Given the description of an element on the screen output the (x, y) to click on. 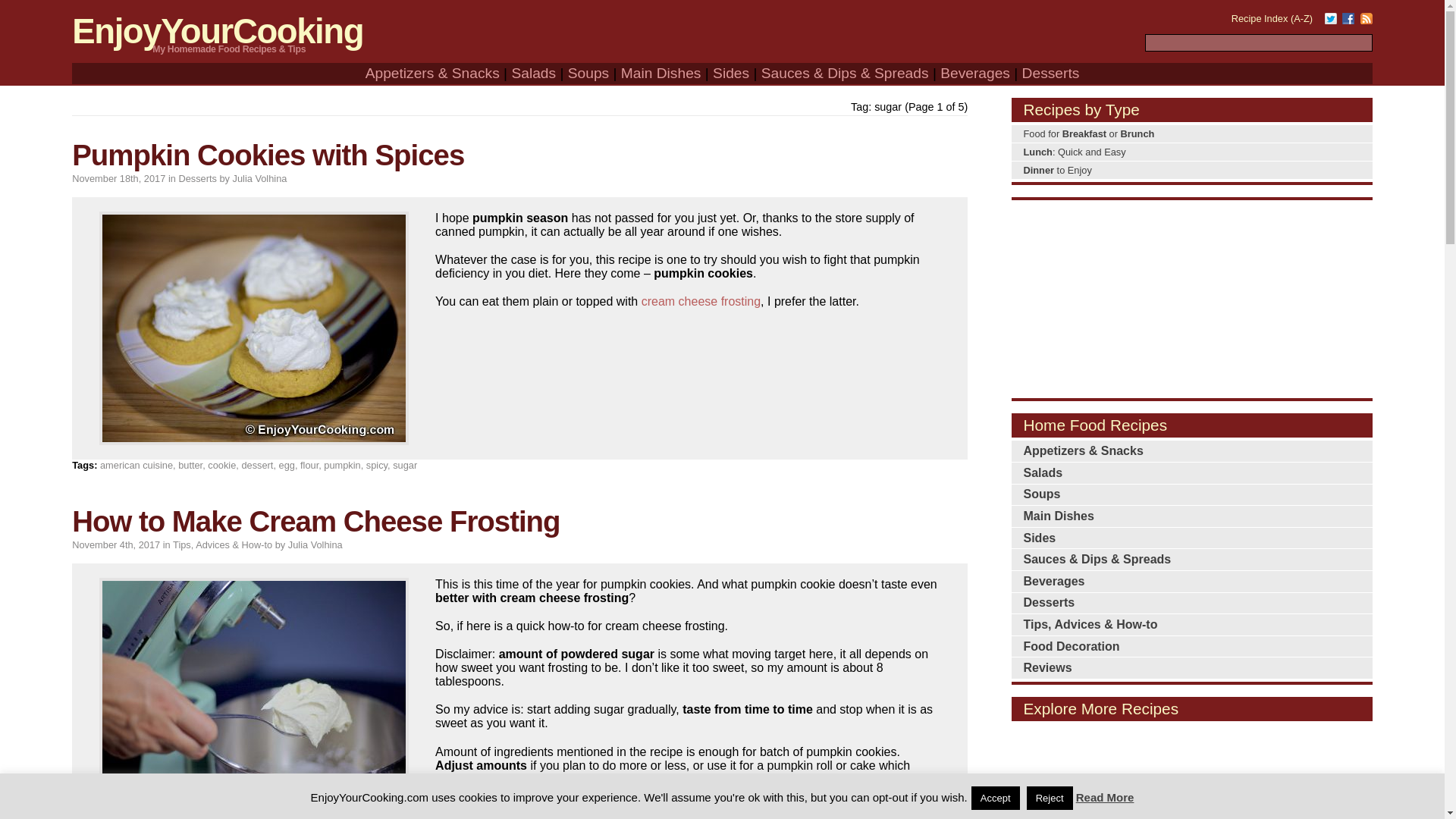
Homemade Food Recipes RSS (1366, 15)
Beverages (975, 73)
Salads (533, 73)
butter (189, 464)
EnjoyYourCooking Page on Facebook (1348, 15)
Soups (587, 73)
Permanent Link to How to Make Cream Cheese Frosting (315, 521)
Desserts (196, 178)
Main Dish Recipes (661, 73)
Beverage Recipes (975, 73)
Pumpkin Cookies with Spices (267, 154)
cookie (221, 464)
Permanent Link to Pumpkin Cookies with Spices (267, 154)
Soup Recipes (587, 73)
Main Dishes (661, 73)
